Given the description of an element on the screen output the (x, y) to click on. 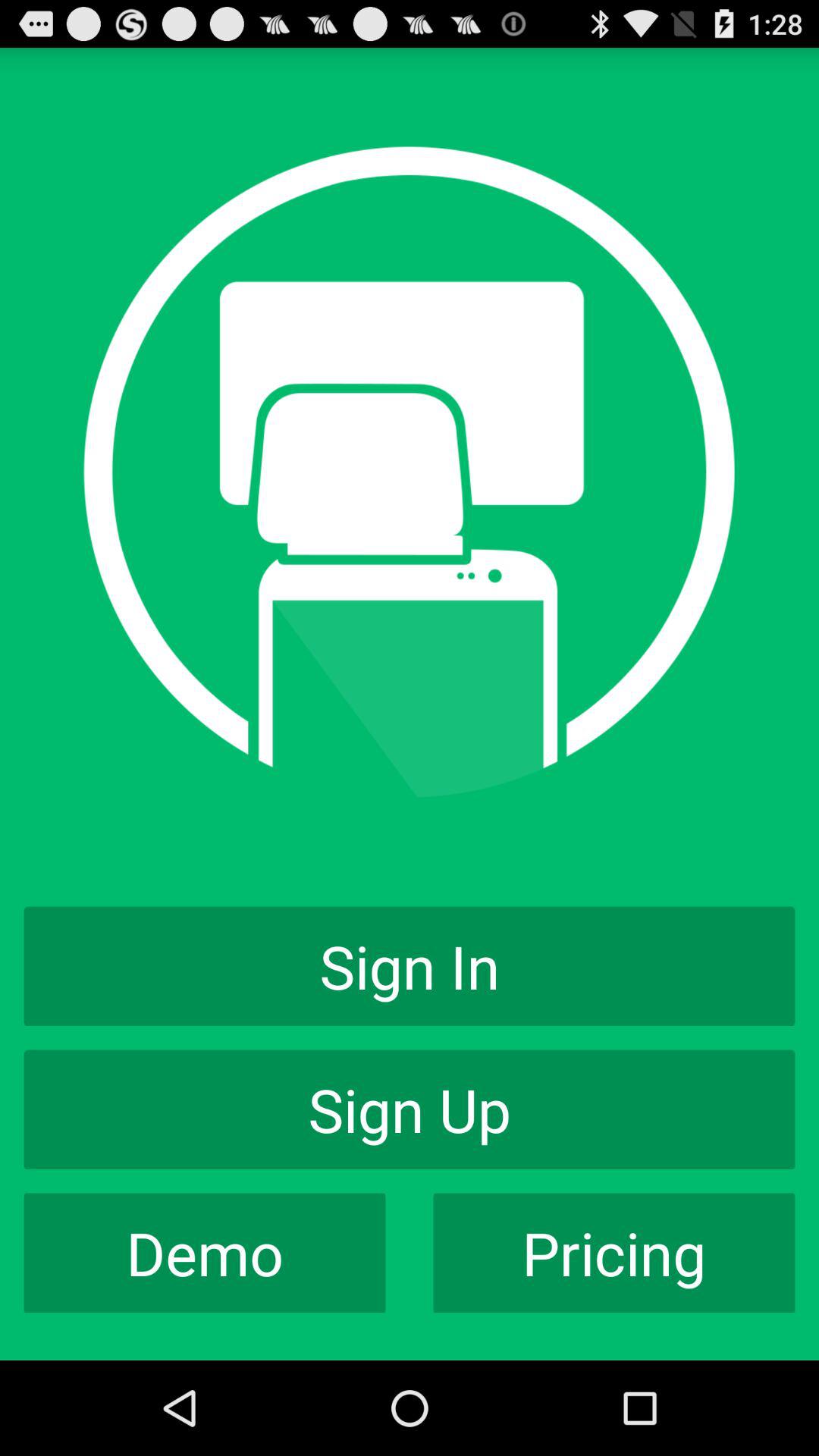
swipe to sign up icon (409, 1109)
